Given the description of an element on the screen output the (x, y) to click on. 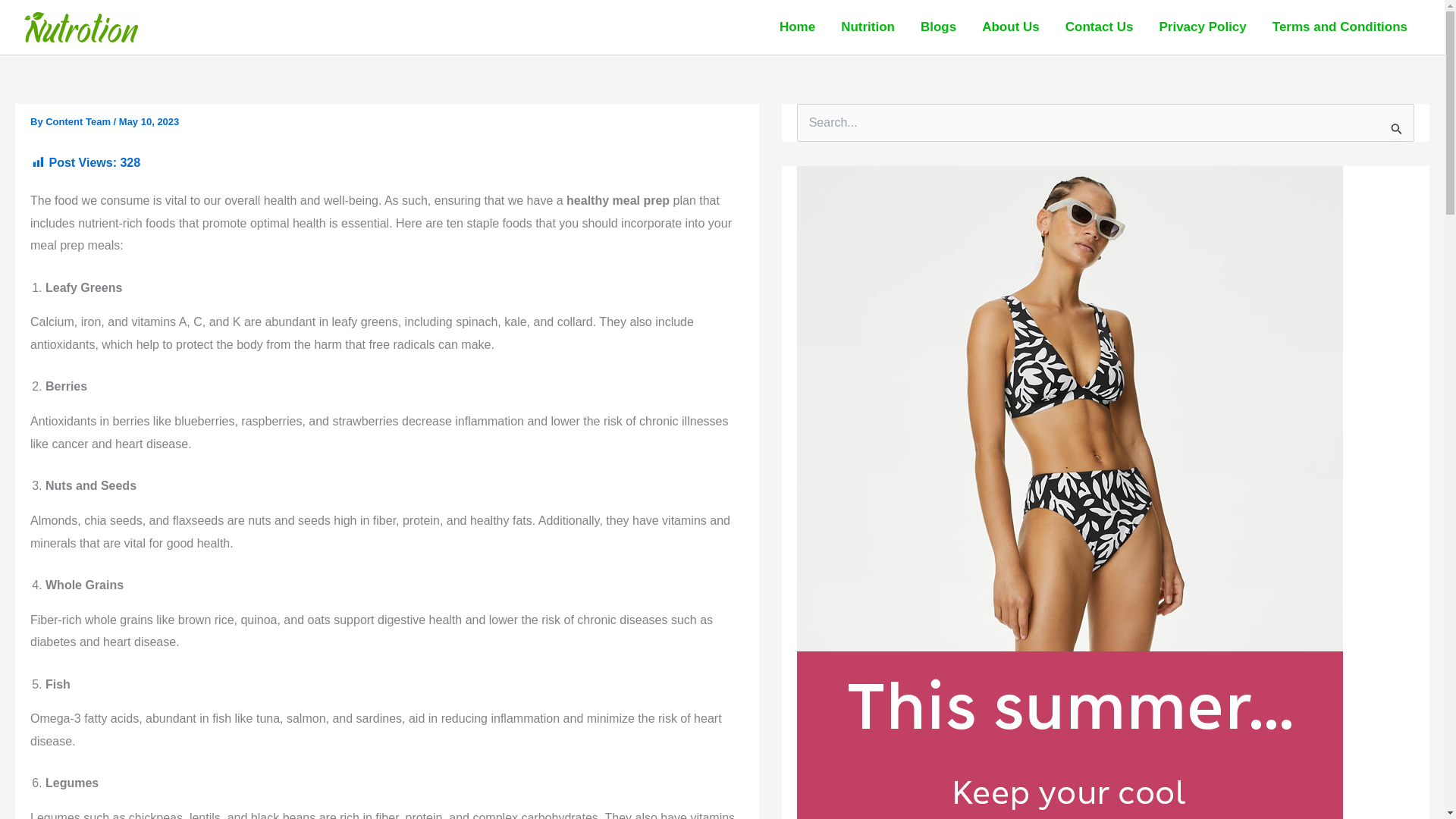
Privacy Policy (1202, 27)
Content Team (79, 121)
Blogs (938, 27)
Home (797, 27)
Terms and Conditions (1340, 27)
About Us (1010, 27)
View all posts by Content Team (79, 121)
Contact Us (1099, 27)
Nutrition (867, 27)
